Given the description of an element on the screen output the (x, y) to click on. 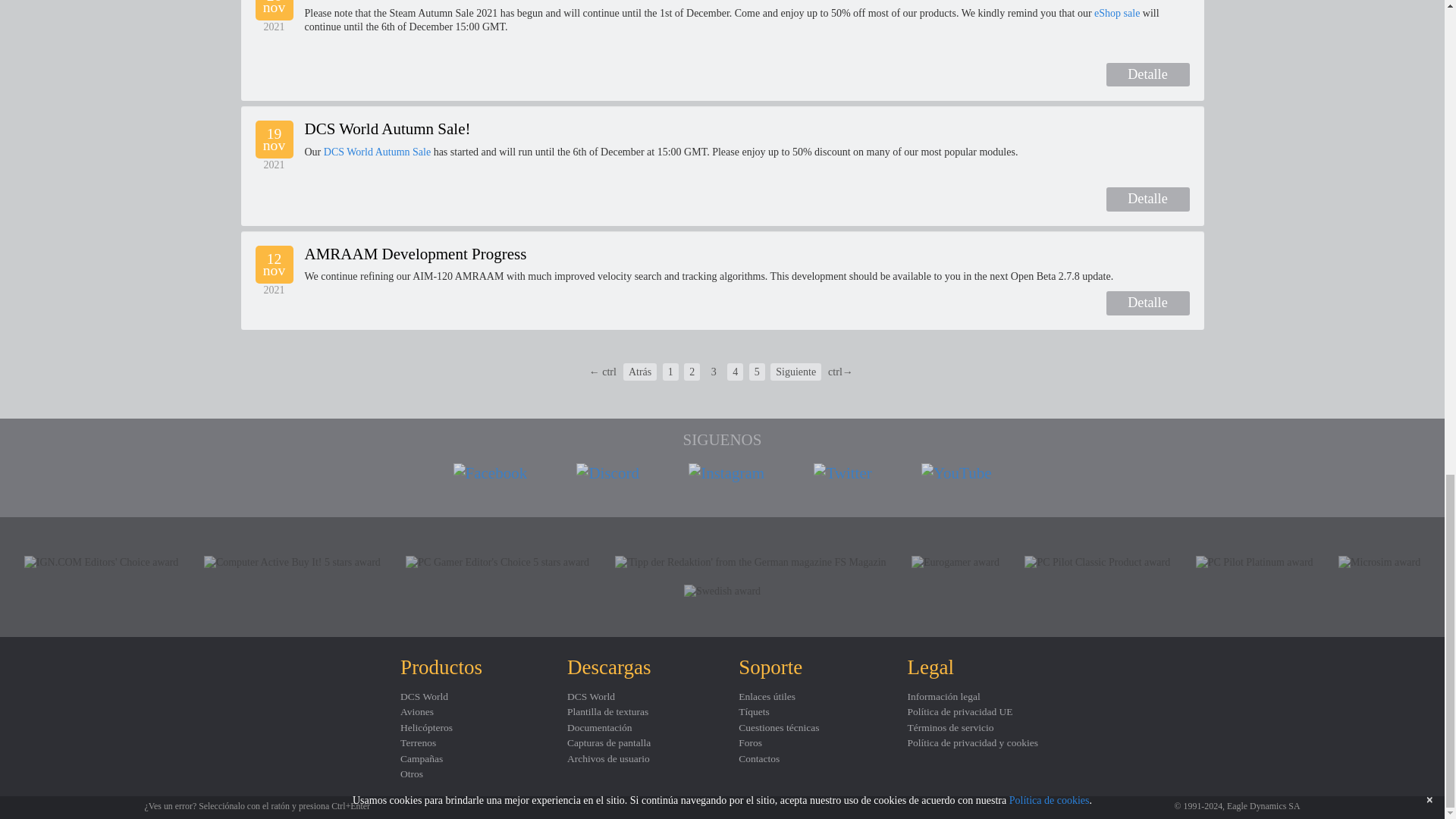
'Tipp der Redaktion' from the German magazine FS Magazin (750, 562)
Swedish award (722, 591)
Computer Active Buy It! 5 stars award (291, 562)
PC Pilot Classic Product award (1097, 562)
PC Pilot Platinum award (1254, 562)
PC Gamer Editor's Choice 5 stars award (497, 562)
Eurogamer award (954, 562)
Microsim award (1379, 562)
IGN.COM Editors' Choice award (101, 562)
